Given the description of an element on the screen output the (x, y) to click on. 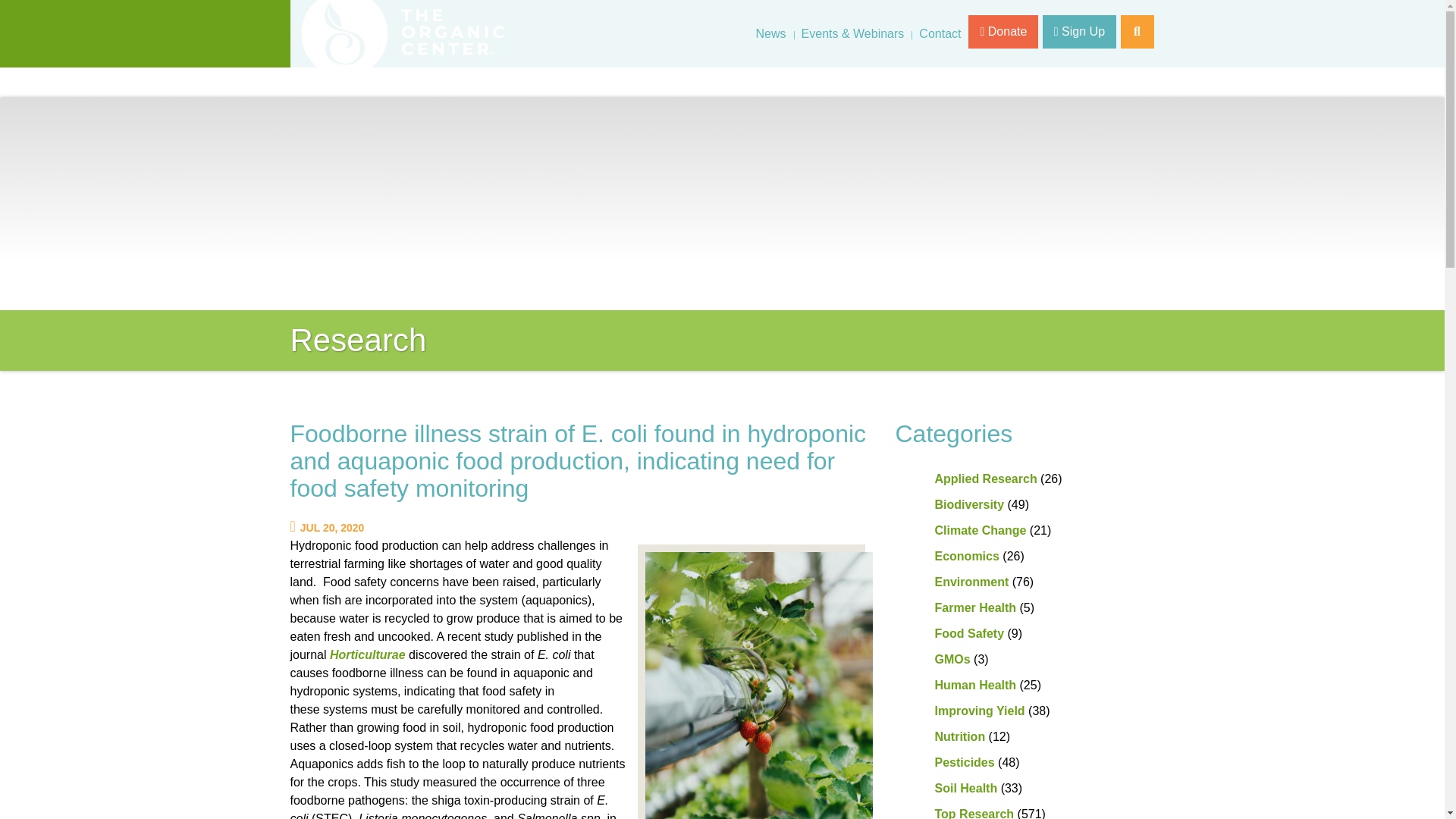
Biodiversity (969, 504)
Sign Up (1079, 31)
Contact (939, 33)
Food Safety (969, 633)
Farmer Health (975, 607)
News (770, 33)
Environment (971, 581)
Horticulturae (368, 654)
Donate (1003, 31)
